Given the description of an element on the screen output the (x, y) to click on. 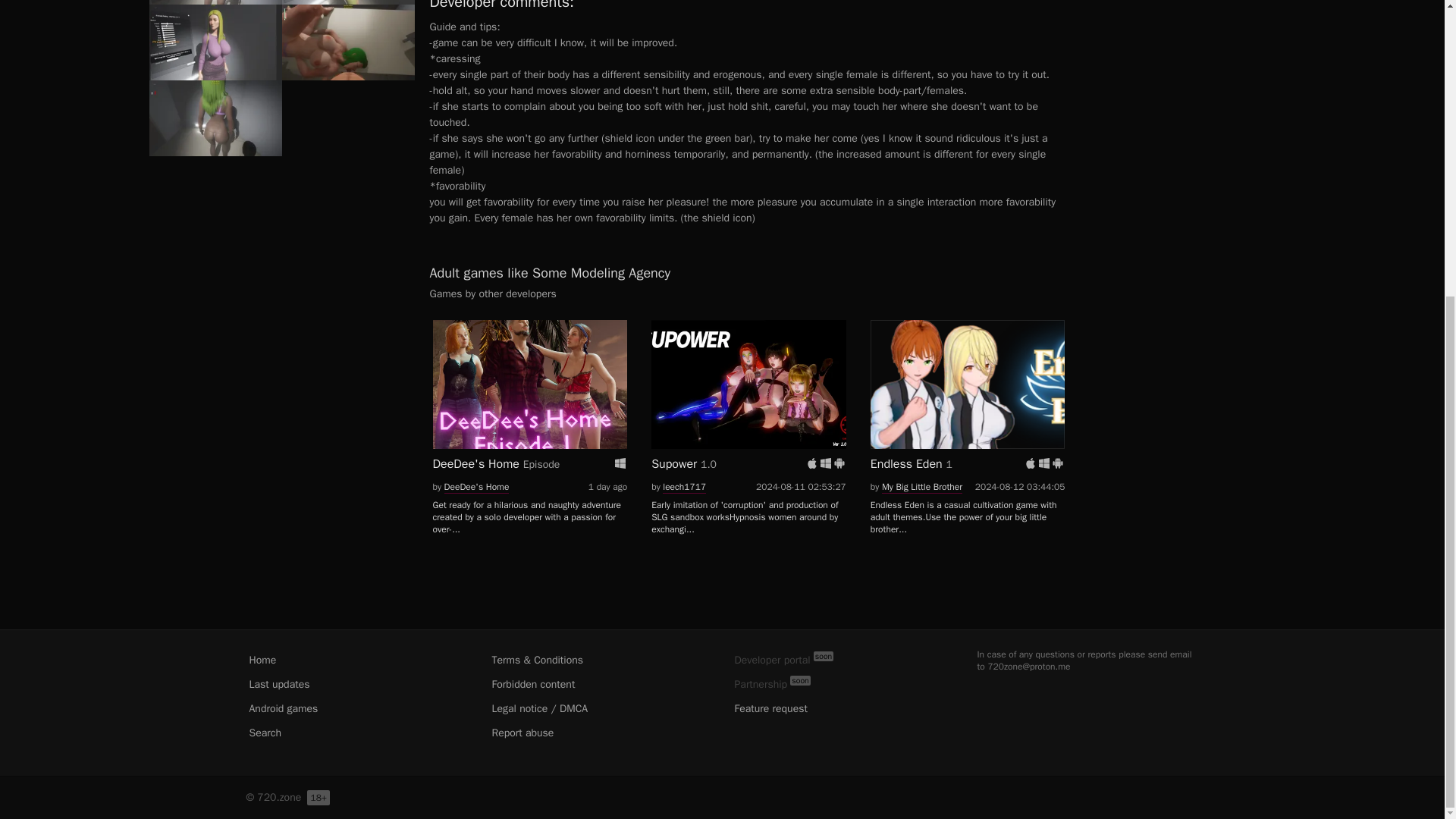
Available for windows (826, 462)
Some Modeling Agency screenshot (348, 42)
Endless Eden (967, 384)
leech1717 (684, 486)
DeeDee's Home Episode (529, 398)
Supower (747, 384)
Supower 1.0 (747, 398)
Some Modeling Agency screenshot (348, 2)
DeeDee's Home (529, 384)
Some Modeling Agency screenshot (214, 2)
